Given the description of an element on the screen output the (x, y) to click on. 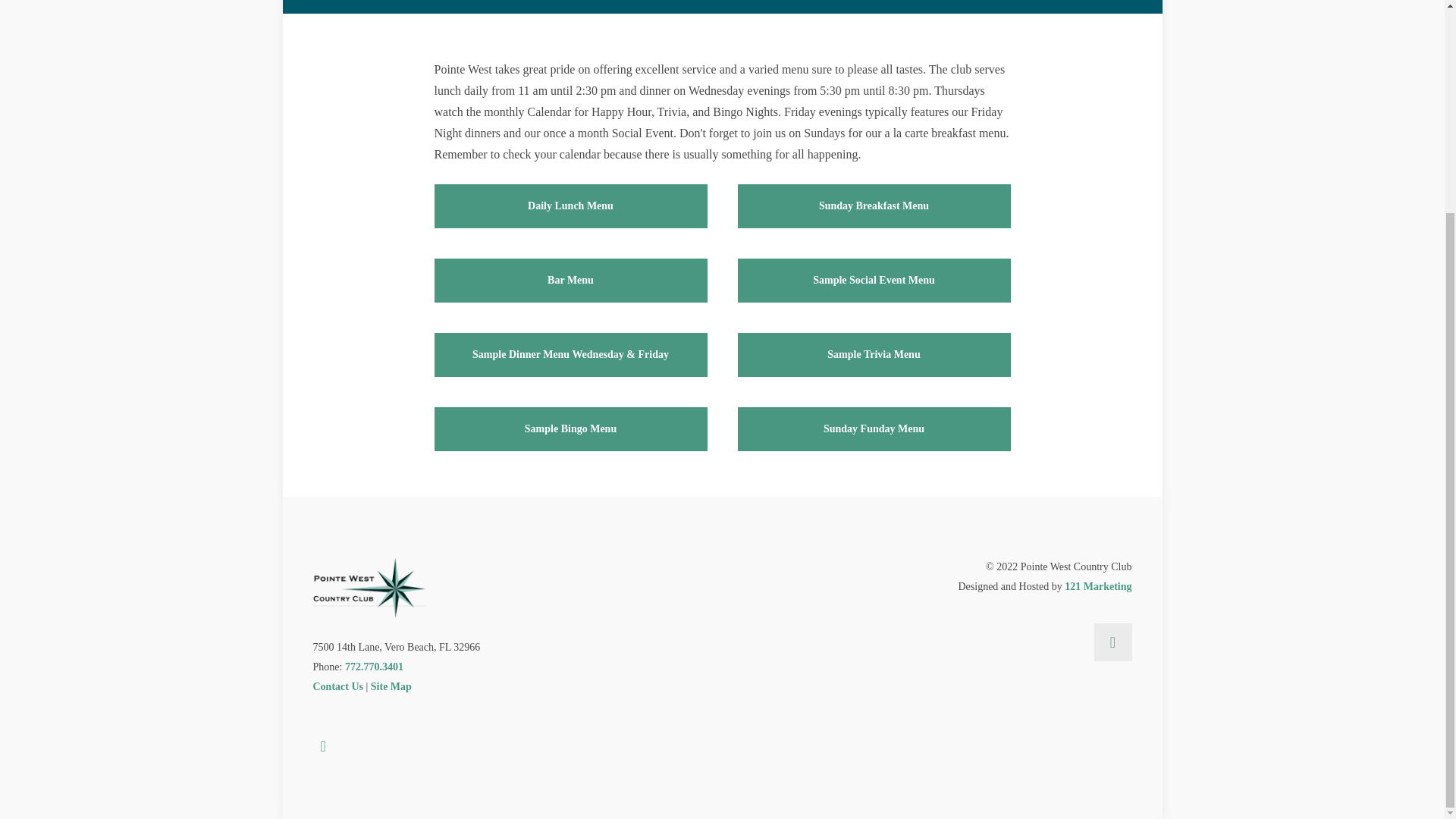
Sample Social Event Menu (873, 280)
Sample Trivia Menu (873, 354)
Sunday Breakfast Menu (873, 206)
Site Map (391, 686)
772.770.3401 (374, 666)
Sunday Funday Menu (873, 429)
Sample Bingo Menu (569, 429)
Contact Us (337, 686)
121 Marketing (1097, 586)
Contact Us (337, 686)
